Given the description of an element on the screen output the (x, y) to click on. 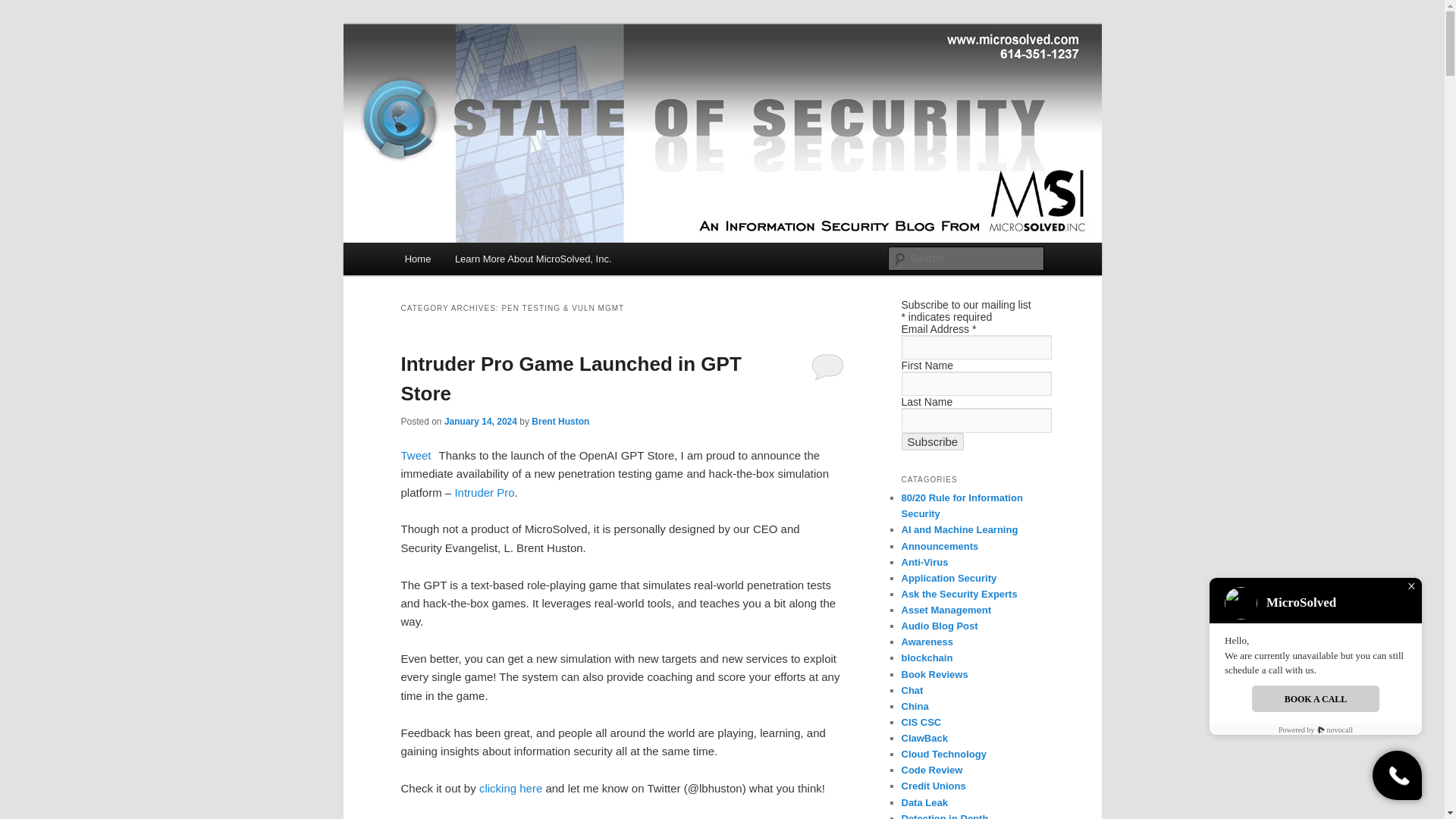
Announcements (476, 818)
Intruder Pro (483, 492)
gaming (802, 818)
January 14, 2024 (480, 420)
Brent Huston (560, 420)
Search (24, 8)
3:53 pm (480, 420)
clicking here (510, 788)
Home (417, 258)
Subscribe (932, 441)
General InfoSec (596, 818)
View all posts by Brent Huston (560, 420)
Tweet (415, 454)
Intruder Pro Game Launched in GPT Store (570, 378)
Free Tool (537, 818)
